Given the description of an element on the screen output the (x, y) to click on. 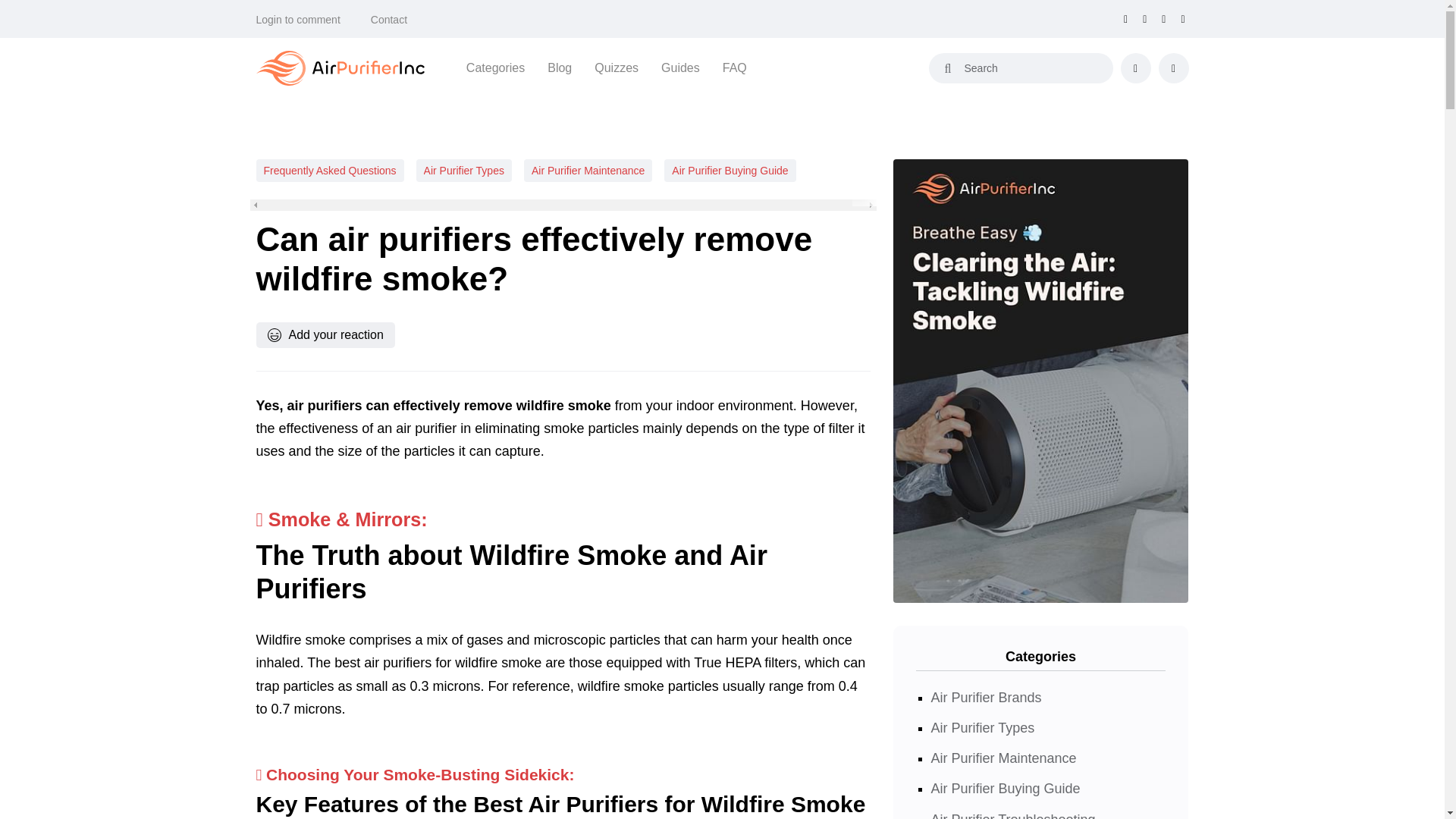
Login to comment (298, 19)
Contact (389, 19)
Categories (494, 67)
